Given the description of an element on the screen output the (x, y) to click on. 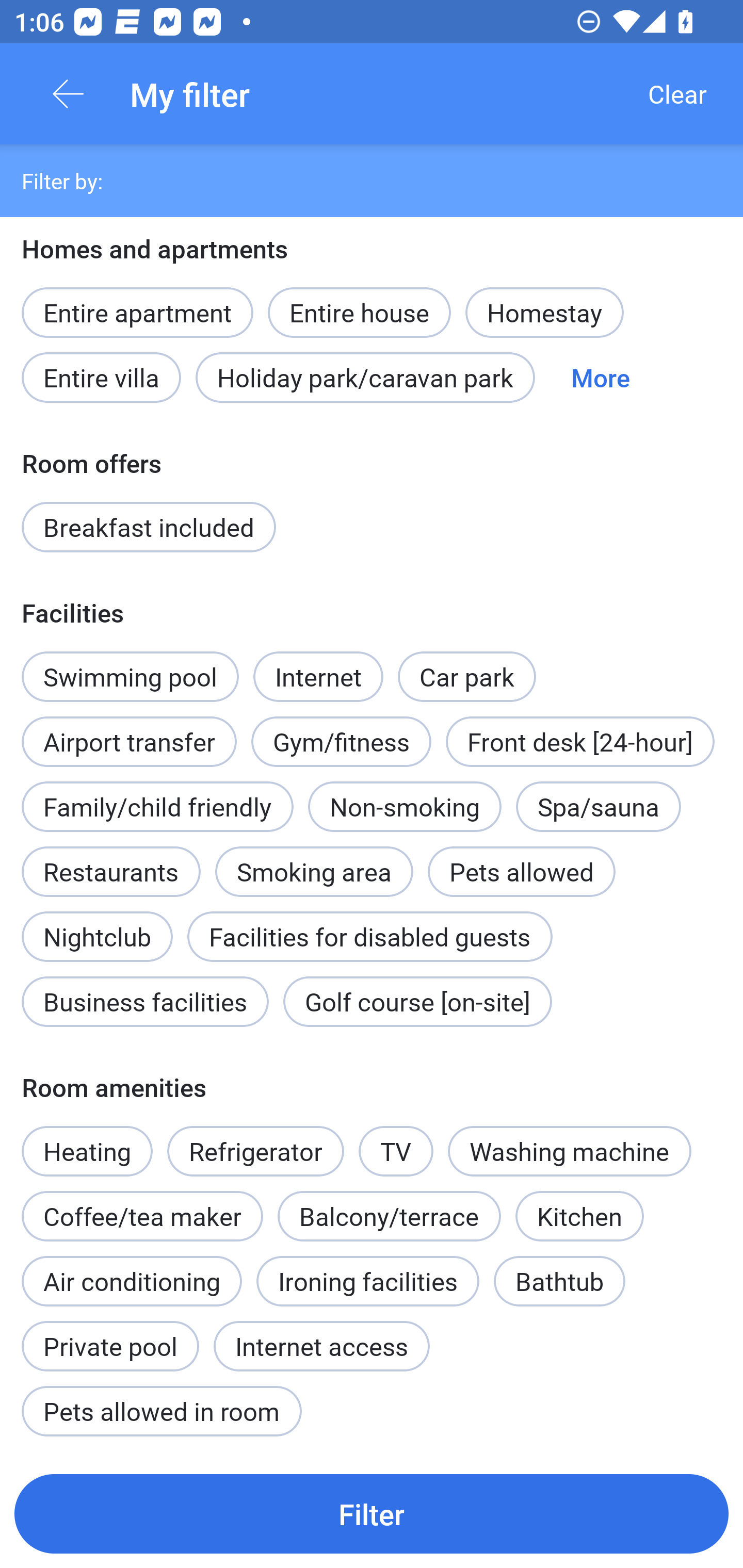
Clear (676, 93)
Entire apartment (137, 312)
Entire house (359, 301)
Homestay (544, 312)
Entire villa (101, 376)
Holiday park/caravan park (364, 376)
More (600, 376)
Breakfast included (148, 527)
Swimming pool (130, 676)
Internet (318, 665)
Car park (466, 676)
Airport transfer (129, 730)
Gym/fitness (341, 741)
Front desk [24-hour] (579, 741)
Family/child friendly (157, 806)
Non-smoking (404, 806)
Spa/sauna (598, 806)
Restaurants (110, 871)
Smoking area (314, 860)
Pets allowed (521, 871)
Nightclub (97, 925)
Facilities for disabled guests (369, 936)
Business facilities (144, 1001)
Golf course [on-site] (417, 1001)
Heating (87, 1140)
Refrigerator (255, 1151)
TV (395, 1140)
Washing machine (569, 1151)
Coffee/tea maker (142, 1215)
Balcony/terrace (388, 1215)
Kitchen (579, 1215)
Air conditioning (131, 1280)
Ironing facilities (367, 1280)
Bathtub (559, 1280)
Private pool (110, 1335)
Internet access (321, 1346)
Pets allowed in room (161, 1411)
Filter (371, 1513)
